Given the description of an element on the screen output the (x, y) to click on. 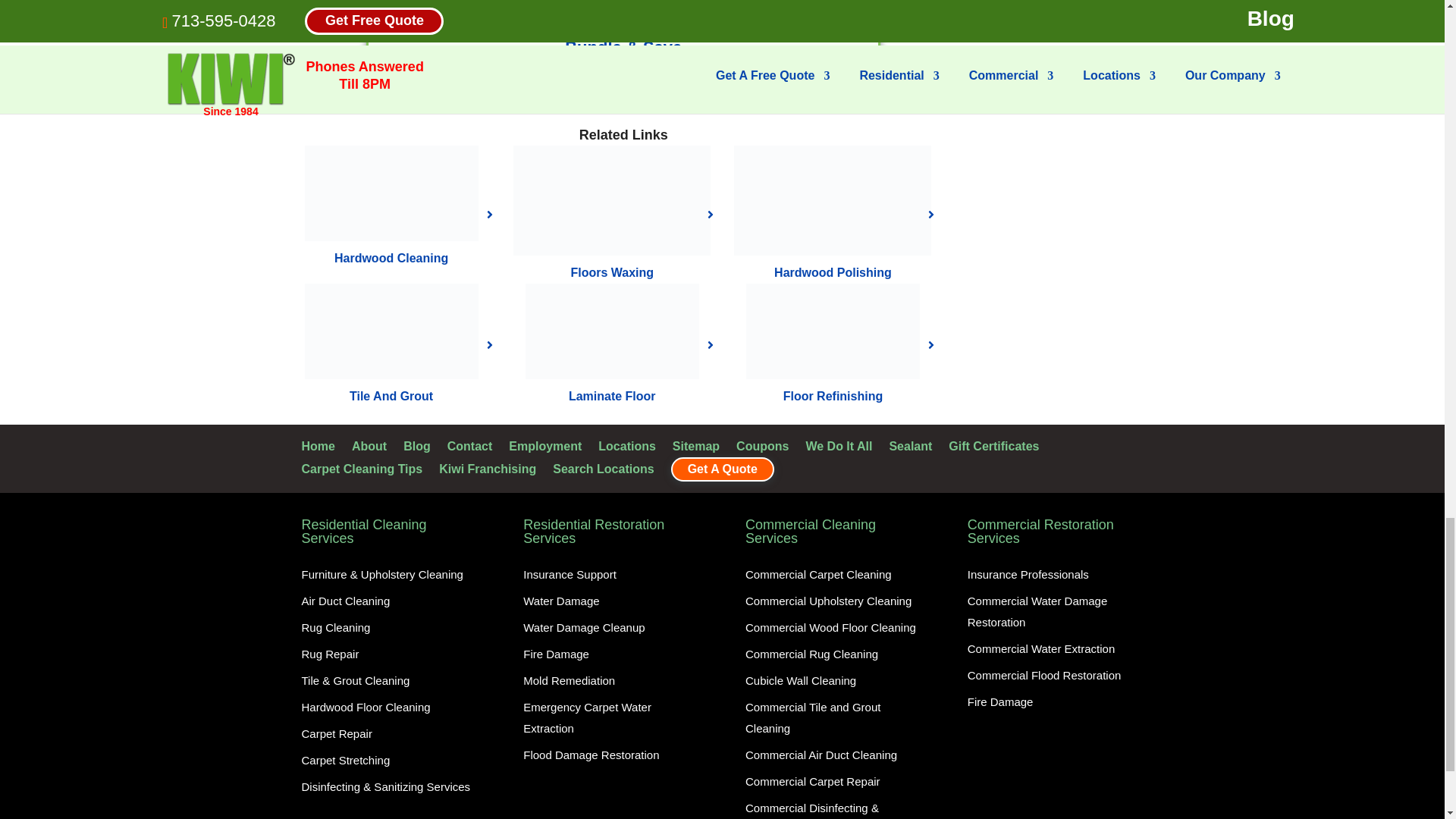
Laminate Floor (611, 331)
Hardwood Polishing (832, 200)
Floor Refinishing (832, 331)
Floors Waxing (611, 200)
Tile And Grout (391, 331)
Hardwood Cleaning (391, 192)
